Given the description of an element on the screen output the (x, y) to click on. 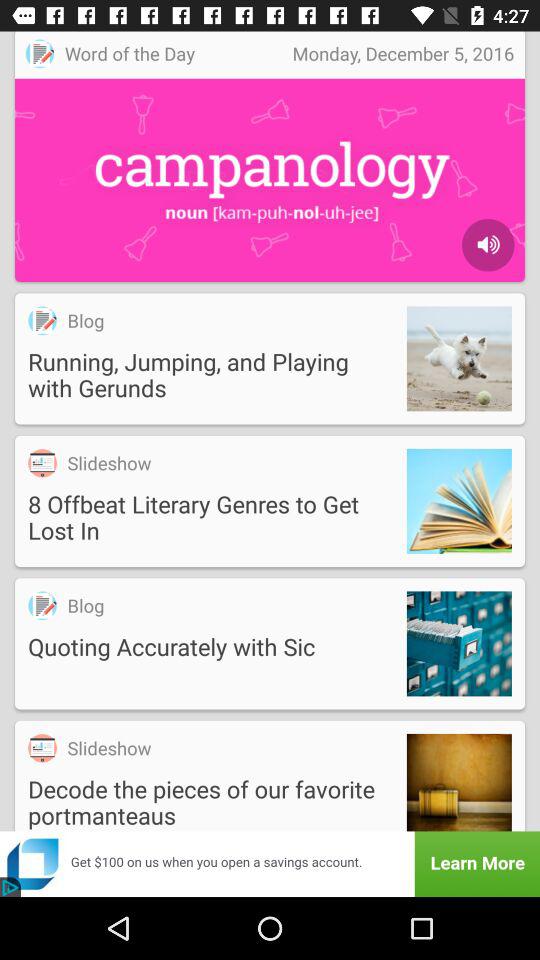
speaker (488, 245)
